Given the description of an element on the screen output the (x, y) to click on. 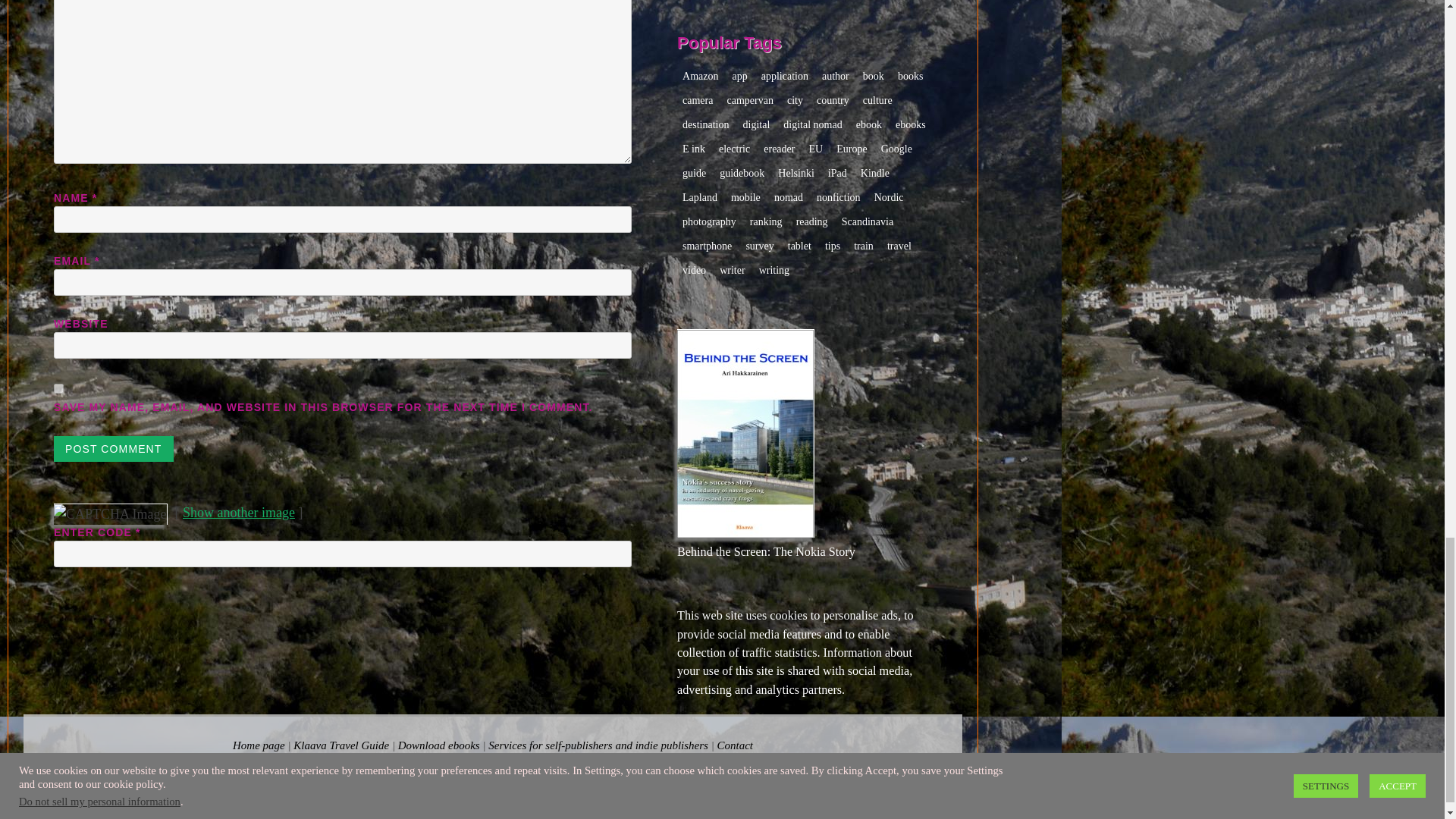
Show another image (239, 512)
Post Comment (113, 448)
yes (58, 388)
Post Comment (113, 448)
Refresh Image (239, 512)
